Given the description of an element on the screen output the (x, y) to click on. 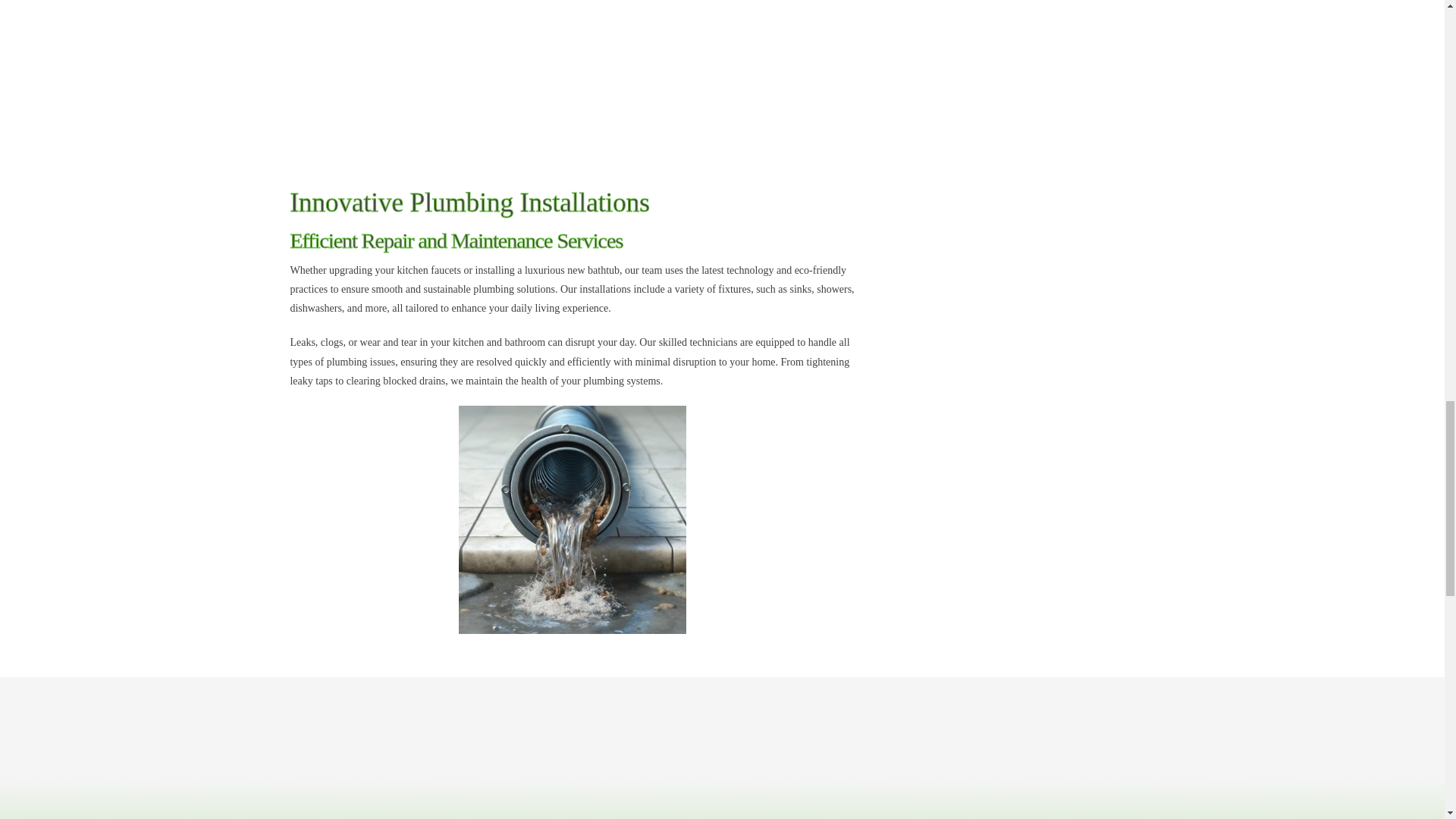
drain-cleaning-services (571, 519)
